Given the description of an element on the screen output the (x, y) to click on. 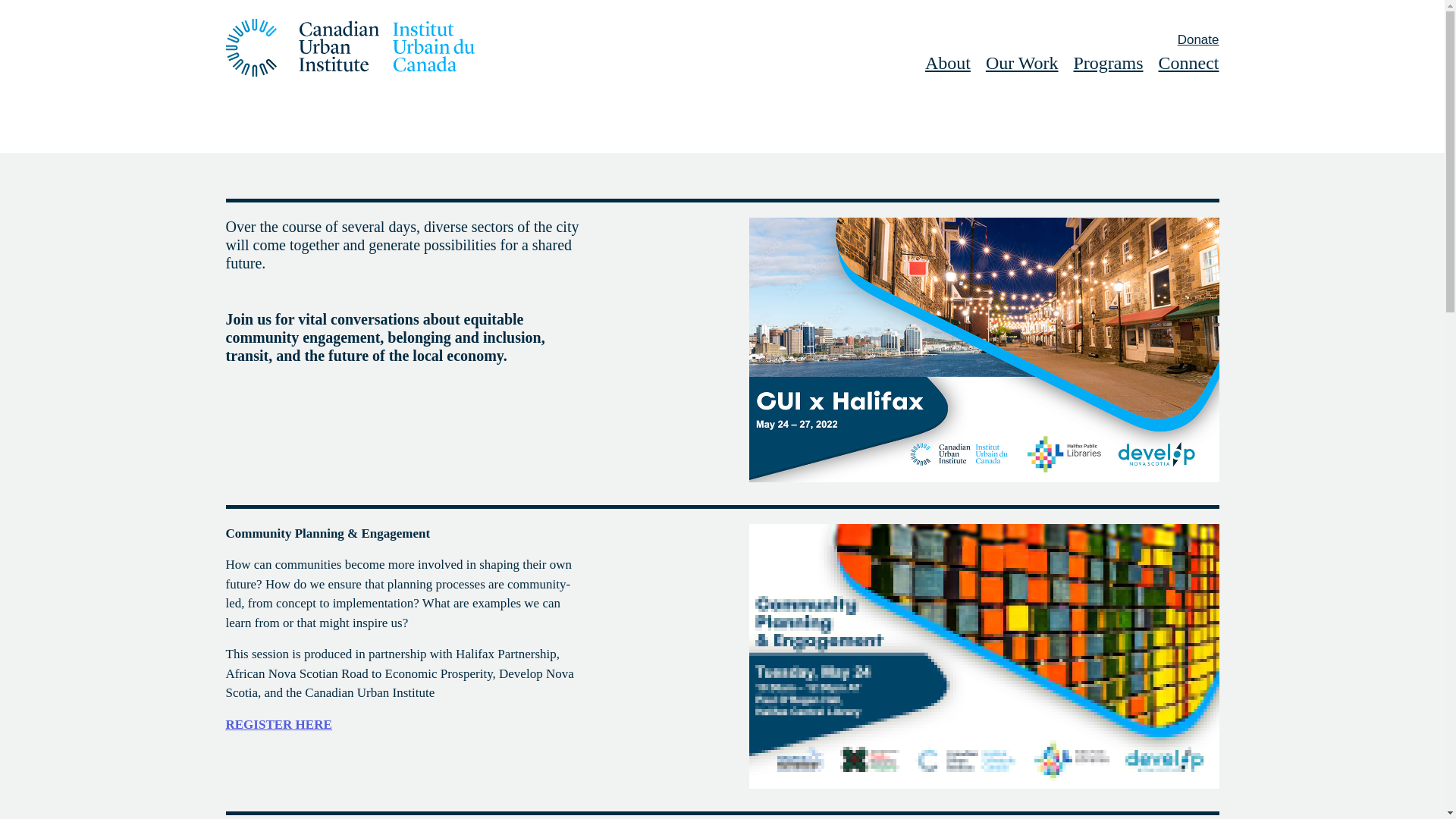
Our Work (1021, 63)
About (947, 63)
Connect (1189, 63)
Donate (1198, 39)
Programs (1108, 63)
